Given the description of an element on the screen output the (x, y) to click on. 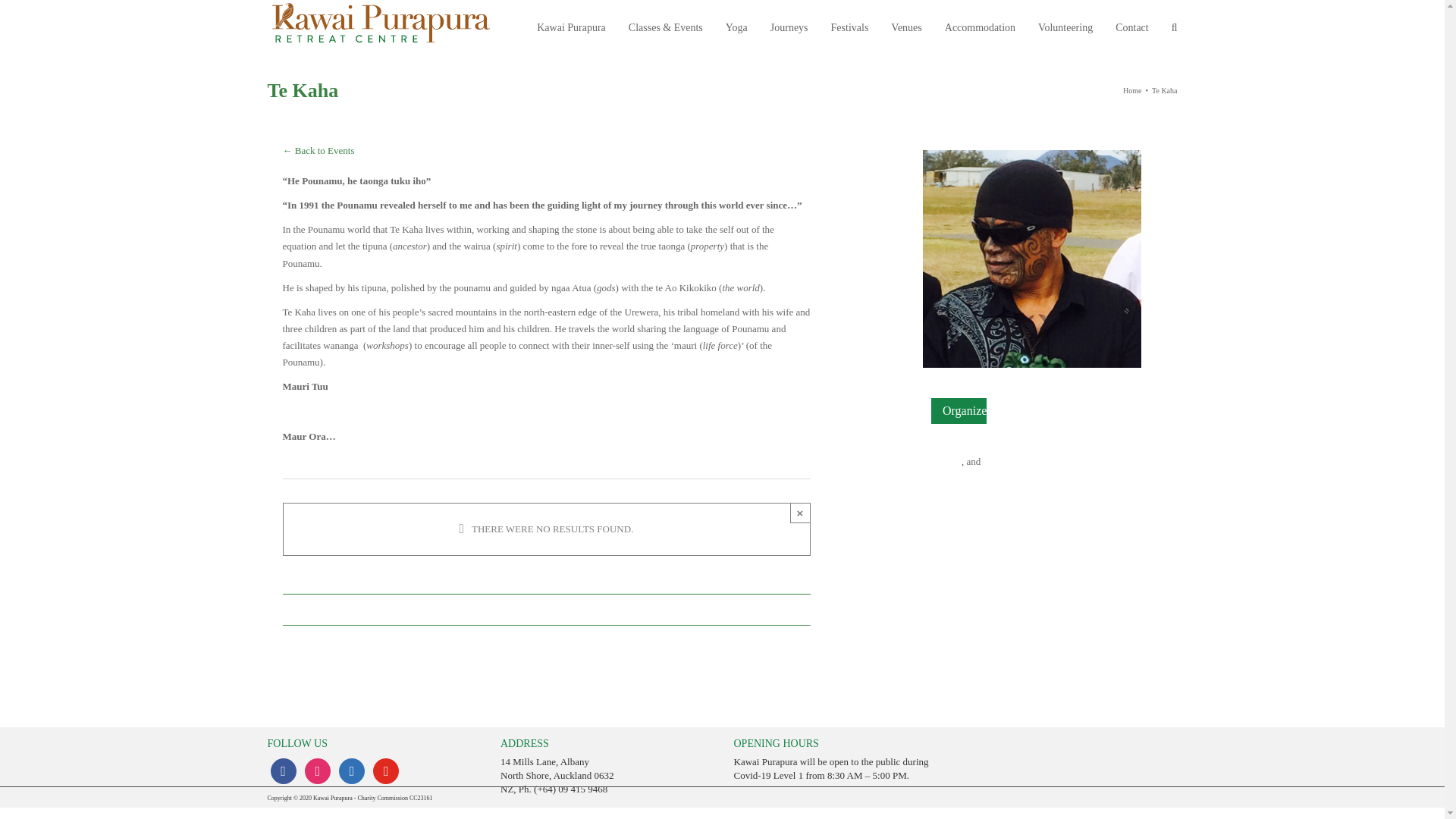
instagram (317, 770)
youtube (385, 770)
Festivals (850, 26)
Twitter (352, 770)
Home (1131, 90)
Journeys (789, 26)
Accommodation (979, 26)
Contact (1131, 26)
Yoga (736, 26)
Volunteering (1065, 26)
Default Label (385, 770)
Instagram (317, 770)
Venues (906, 26)
Facebook (282, 770)
Search (1174, 26)
